Given the description of an element on the screen output the (x, y) to click on. 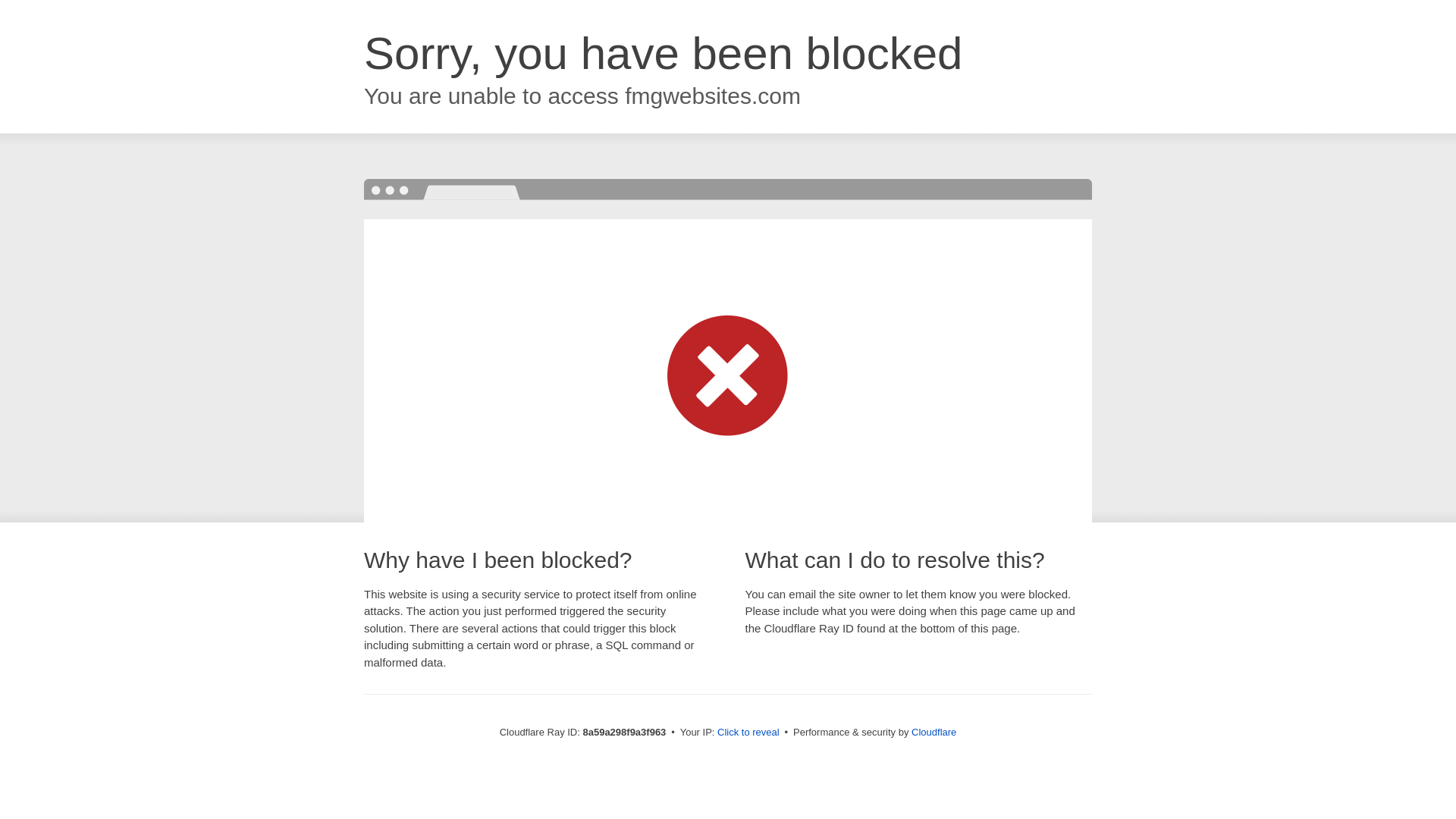
Cloudflare (933, 731)
Click to reveal (747, 732)
